Given the description of an element on the screen output the (x, y) to click on. 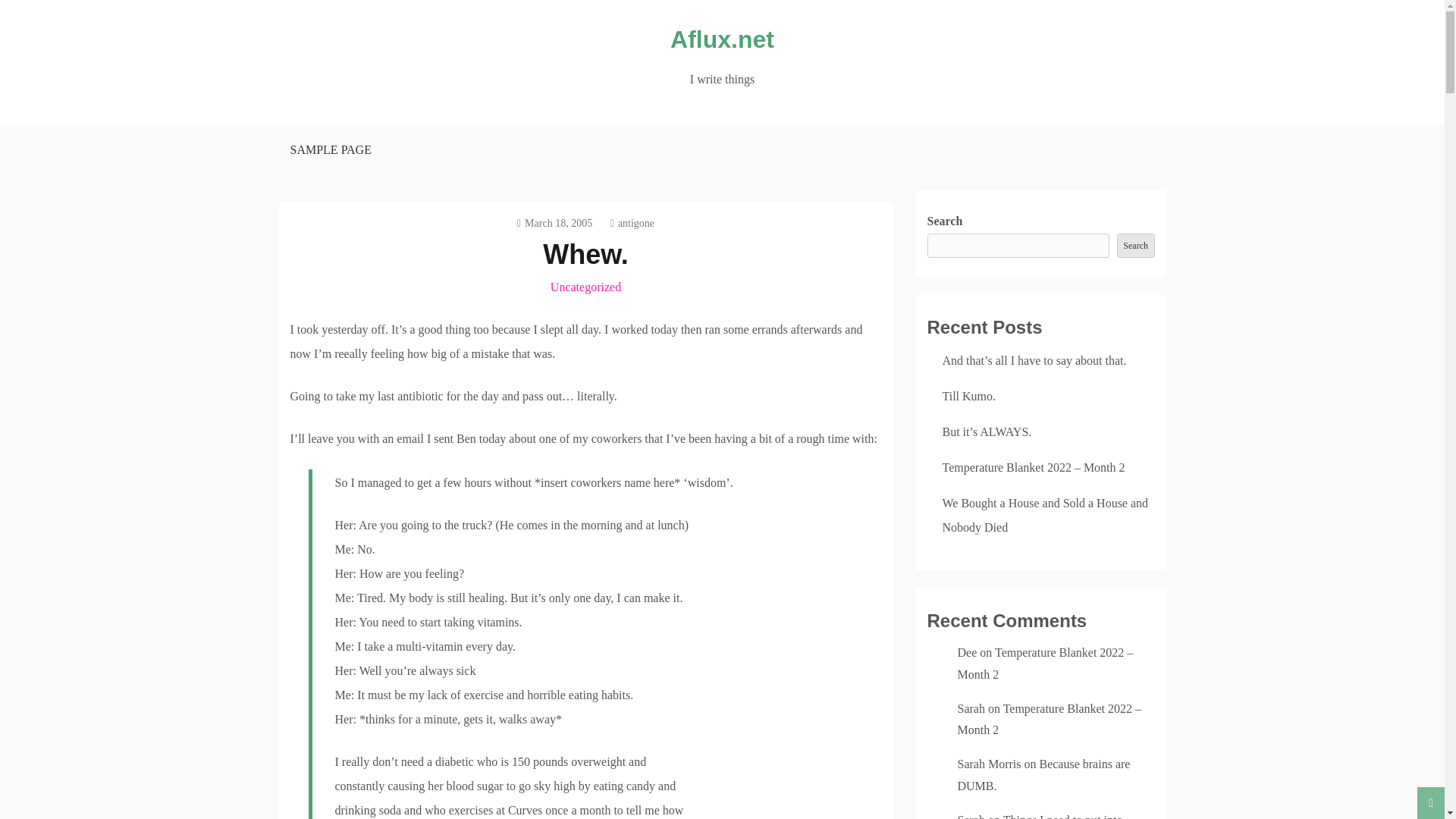
We Bought a House and Sold a House and Nobody Died (1045, 514)
Sarah (970, 707)
Search (1135, 245)
Because brains are DUMB. (1042, 774)
antigone (631, 223)
March 18, 2005 (554, 223)
Dee (966, 652)
Till Kumo. (968, 395)
Aflux.net (721, 39)
SAMPLE PAGE (329, 150)
Uncategorized (585, 286)
